Given the description of an element on the screen output the (x, y) to click on. 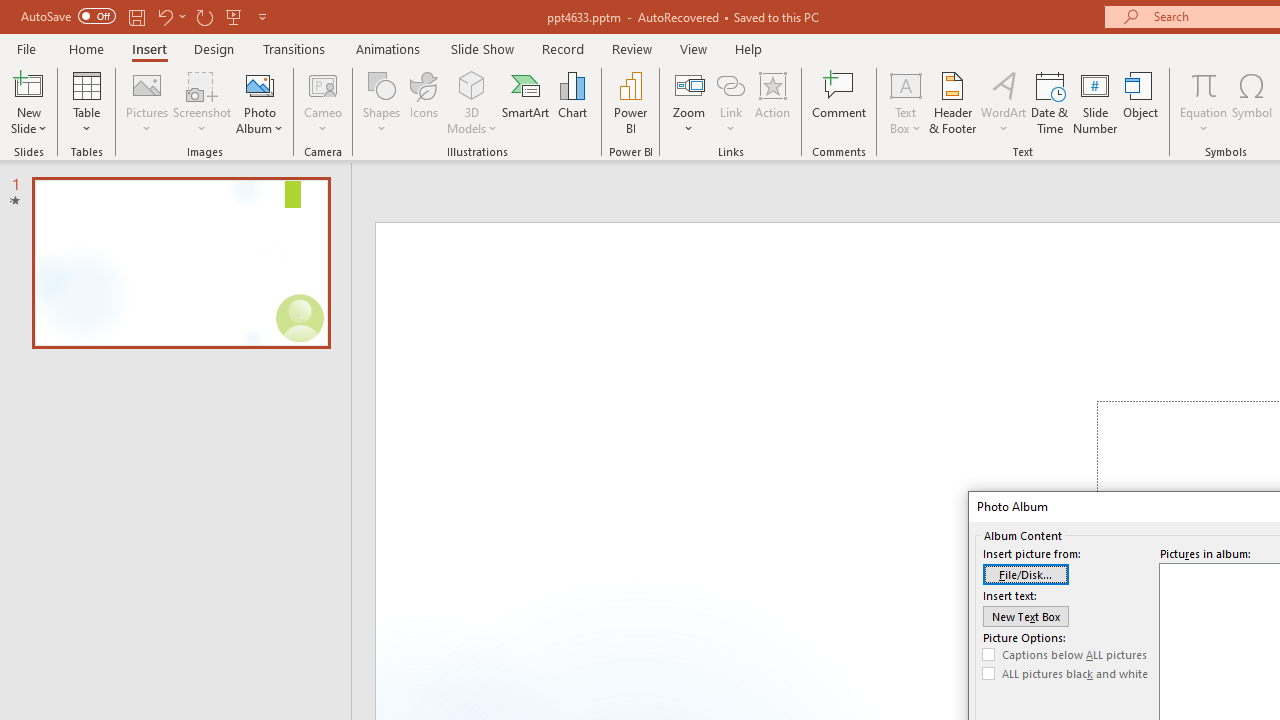
Chart... (572, 102)
Link (731, 102)
Cameo (323, 84)
Header & Footer... (952, 102)
Captions below ALL pictures (1065, 655)
Icons (424, 102)
Text Box (905, 102)
Comment (839, 102)
